Given the description of an element on the screen output the (x, y) to click on. 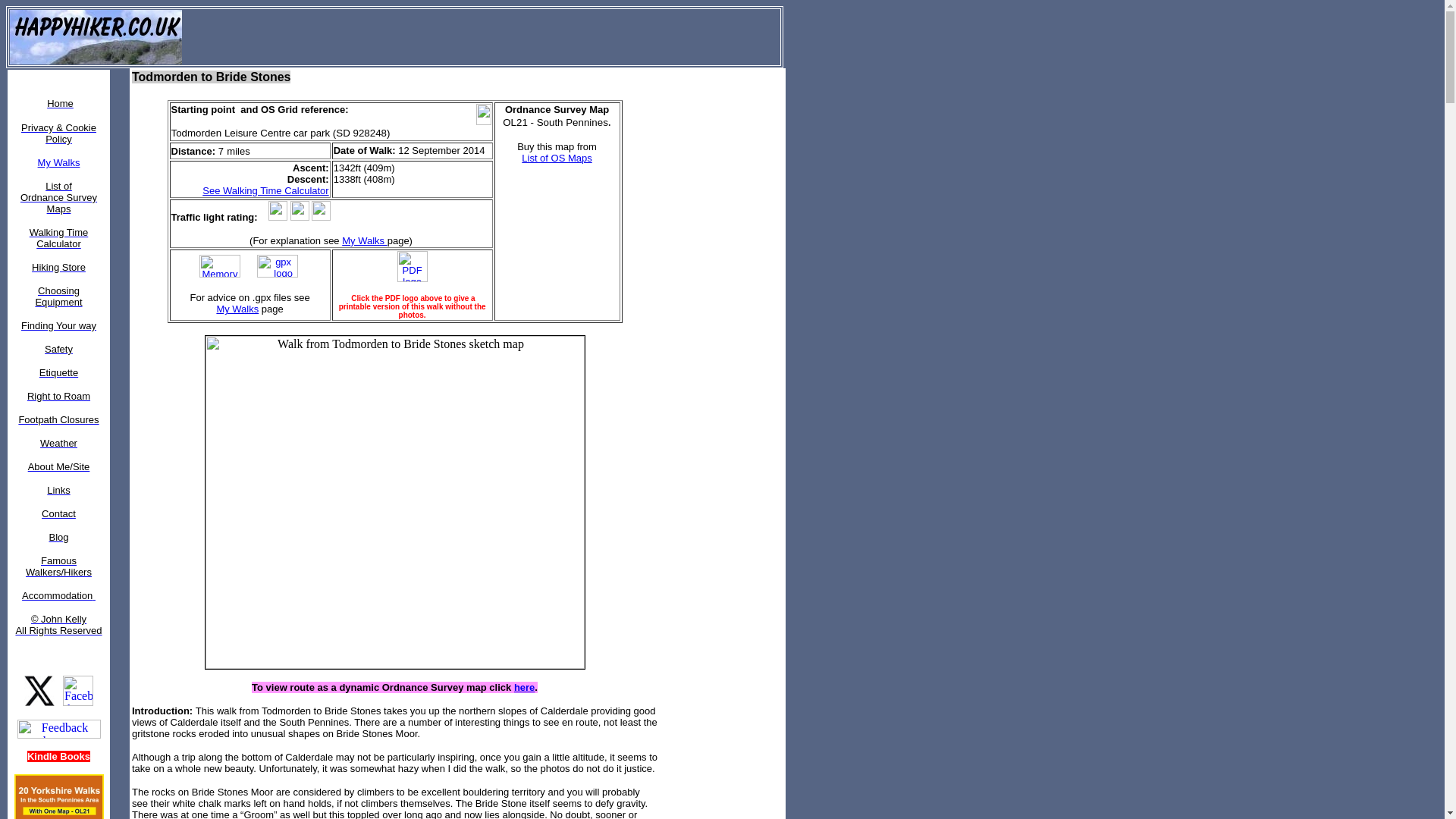
Footpath Closures (58, 419)
Etiquette (58, 372)
Hiking Store (58, 266)
Links (57, 490)
Finding Your way (58, 325)
See Walking Time Calculator (265, 196)
Safety (58, 348)
Home (60, 102)
List of OS Maps (556, 157)
